Given the description of an element on the screen output the (x, y) to click on. 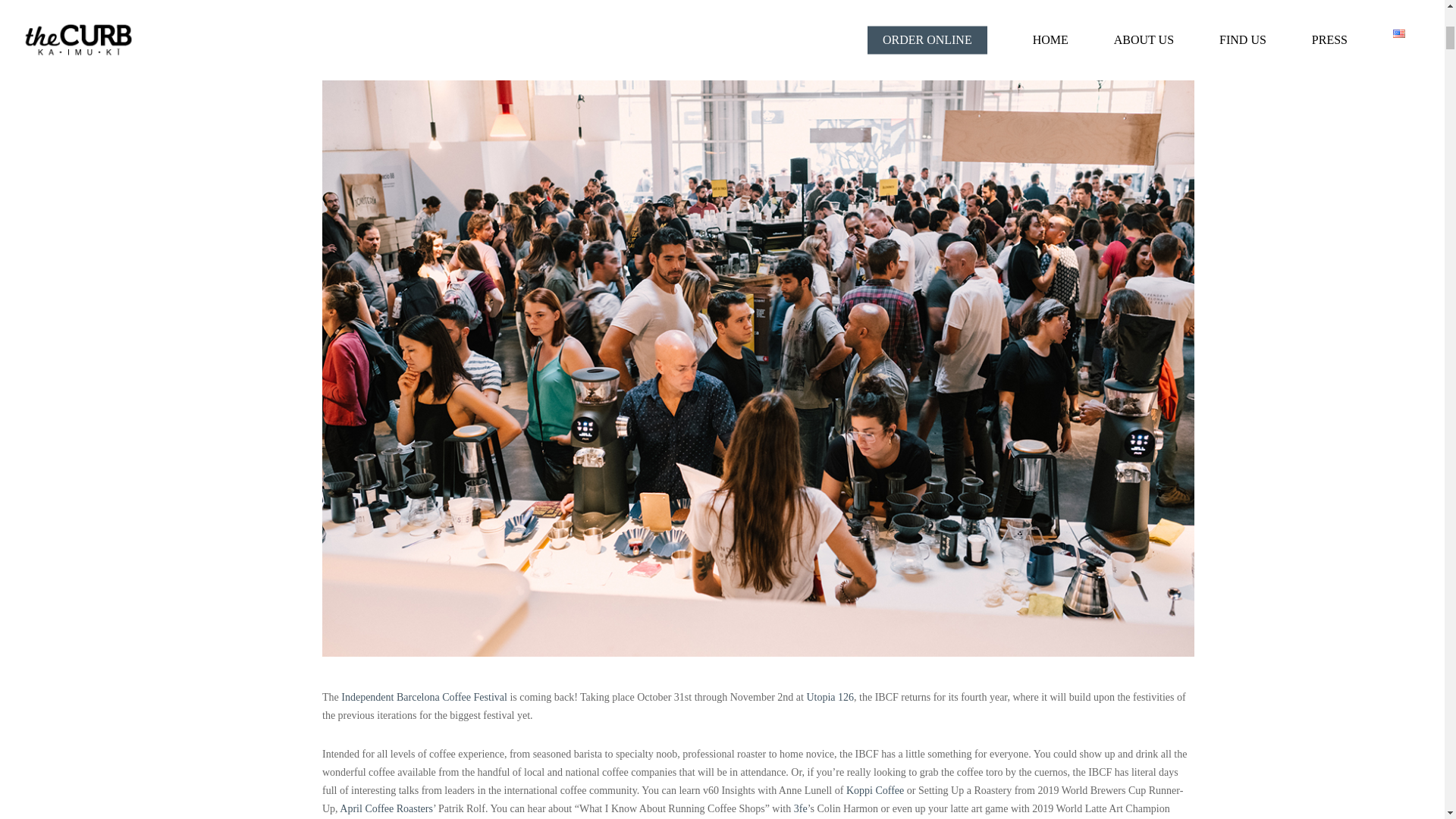
3FE (384, 54)
April Coffee Roasters (496, 54)
Manuela Fensore (950, 54)
Posts by admin (350, 54)
Wire (1135, 54)
Patrik Rolf (1015, 54)
independent barcelona coffee festival (770, 54)
April Coffee Roasters (385, 808)
admin (350, 54)
3fe (800, 808)
Koppi Coffee (874, 790)
spain (1056, 54)
Utopia 126 (829, 696)
events (672, 54)
colin harmon (624, 54)
